Given the description of an element on the screen output the (x, y) to click on. 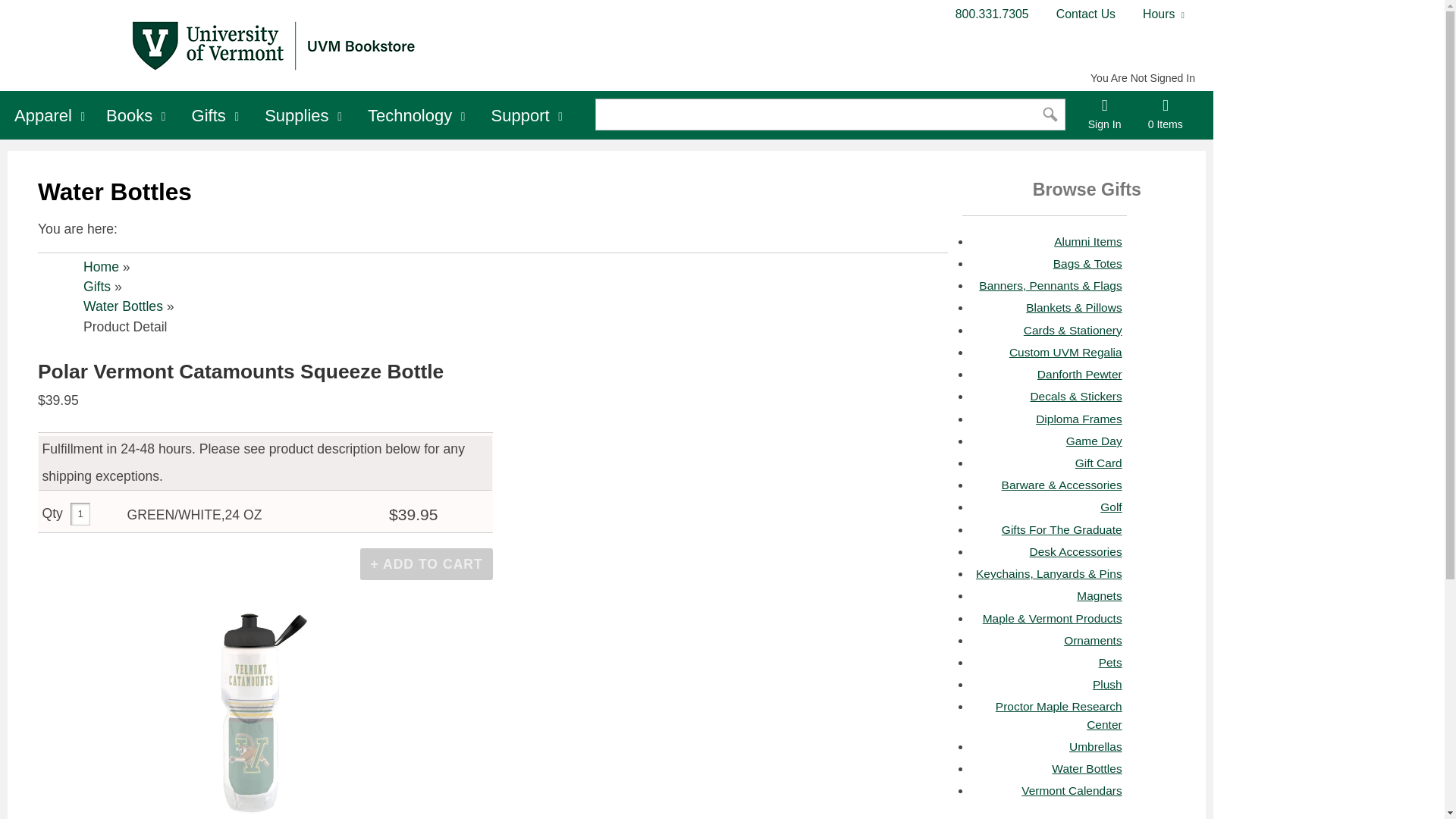
1 (79, 513)
Contact Us (1086, 13)
Polar Vermont Catamounts Squeeze Bottle (251, 708)
Search (796, 114)
800.331.7305 (992, 13)
